Given the description of an element on the screen output the (x, y) to click on. 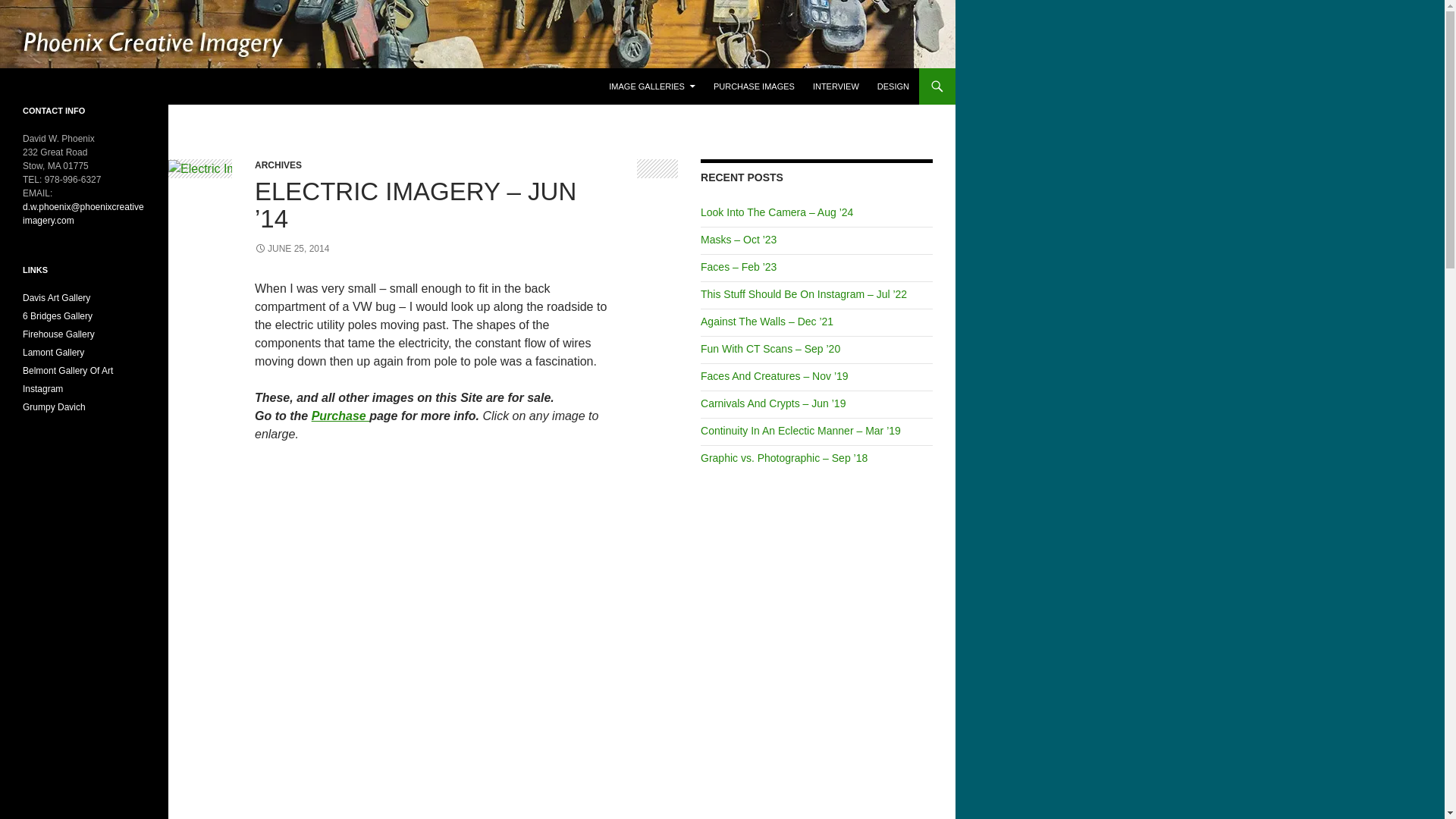
Purchase  (340, 415)
PURCHASE IMAGES (753, 85)
INTERVIEW (835, 85)
ARCHIVES (277, 164)
Phoenix Creative Imagery (106, 85)
DESIGN (892, 85)
Purchase (340, 415)
JUNE 25, 2014 (291, 248)
